Given the description of an element on the screen output the (x, y) to click on. 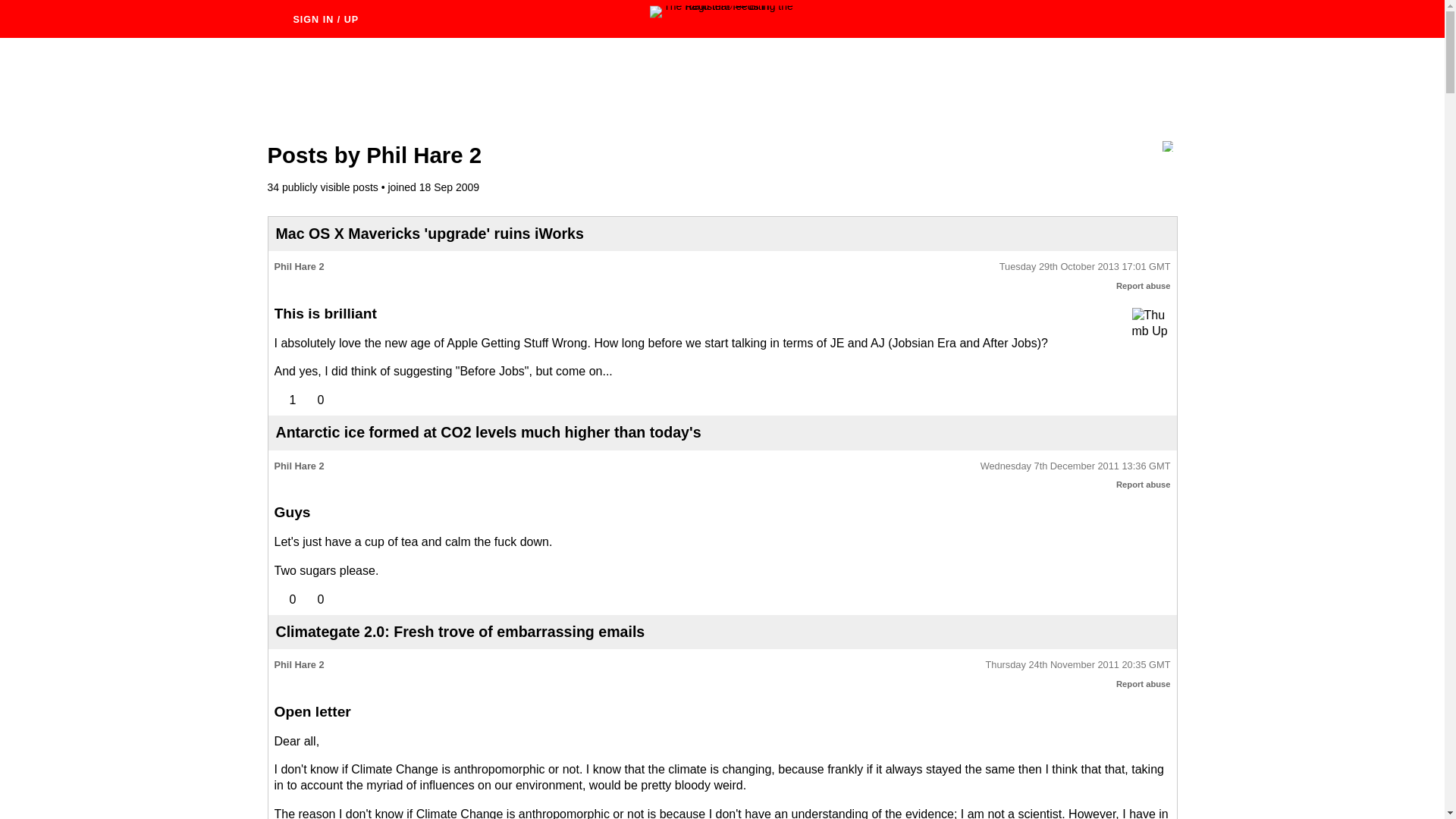
Inappropriate post? Report it to our moderators (1143, 285)
Inappropriate post? Report it to our moderators (1143, 683)
Feed of new posts by this user (1166, 145)
Report abuse (1143, 285)
Permalink to this post (1077, 665)
Like this post? Vote for it! (286, 599)
Like this post? Vote for it! (286, 400)
Permalink to this post (1074, 466)
Dislike this post? Vote it down! (312, 599)
Permalink to this post (1084, 267)
